Given the description of an element on the screen output the (x, y) to click on. 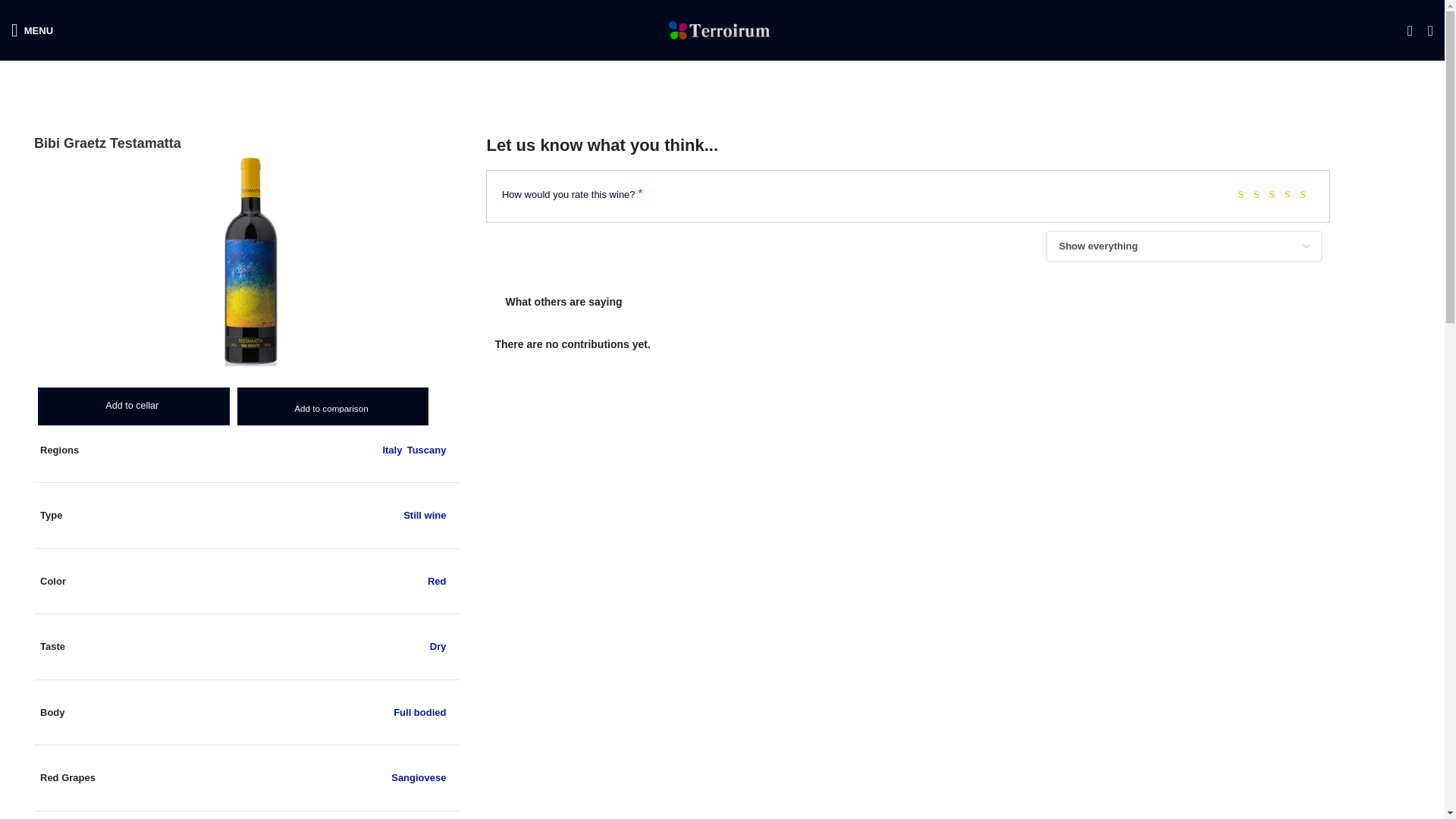
Still wine (424, 514)
Add to cellar (133, 395)
MENU (32, 30)
Tuscany (426, 449)
Bibi Graetz Testamatta (250, 260)
Add to comparison (331, 408)
Sangiovese (418, 777)
Dry (437, 645)
Italy (391, 449)
Red (437, 581)
Full bodied (419, 712)
